Given the description of an element on the screen output the (x, y) to click on. 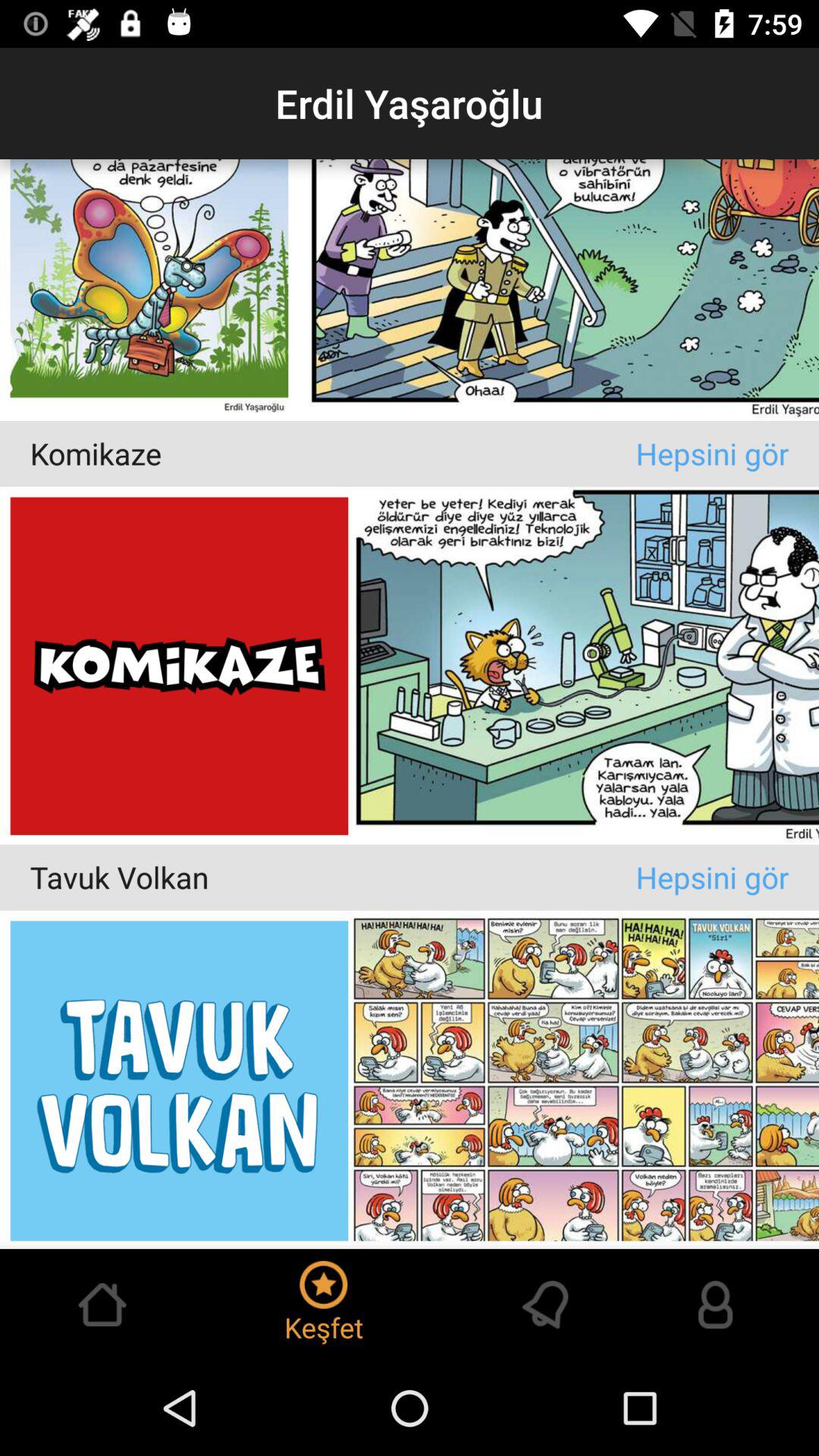
press komikaze item (332, 453)
